Given the description of an element on the screen output the (x, y) to click on. 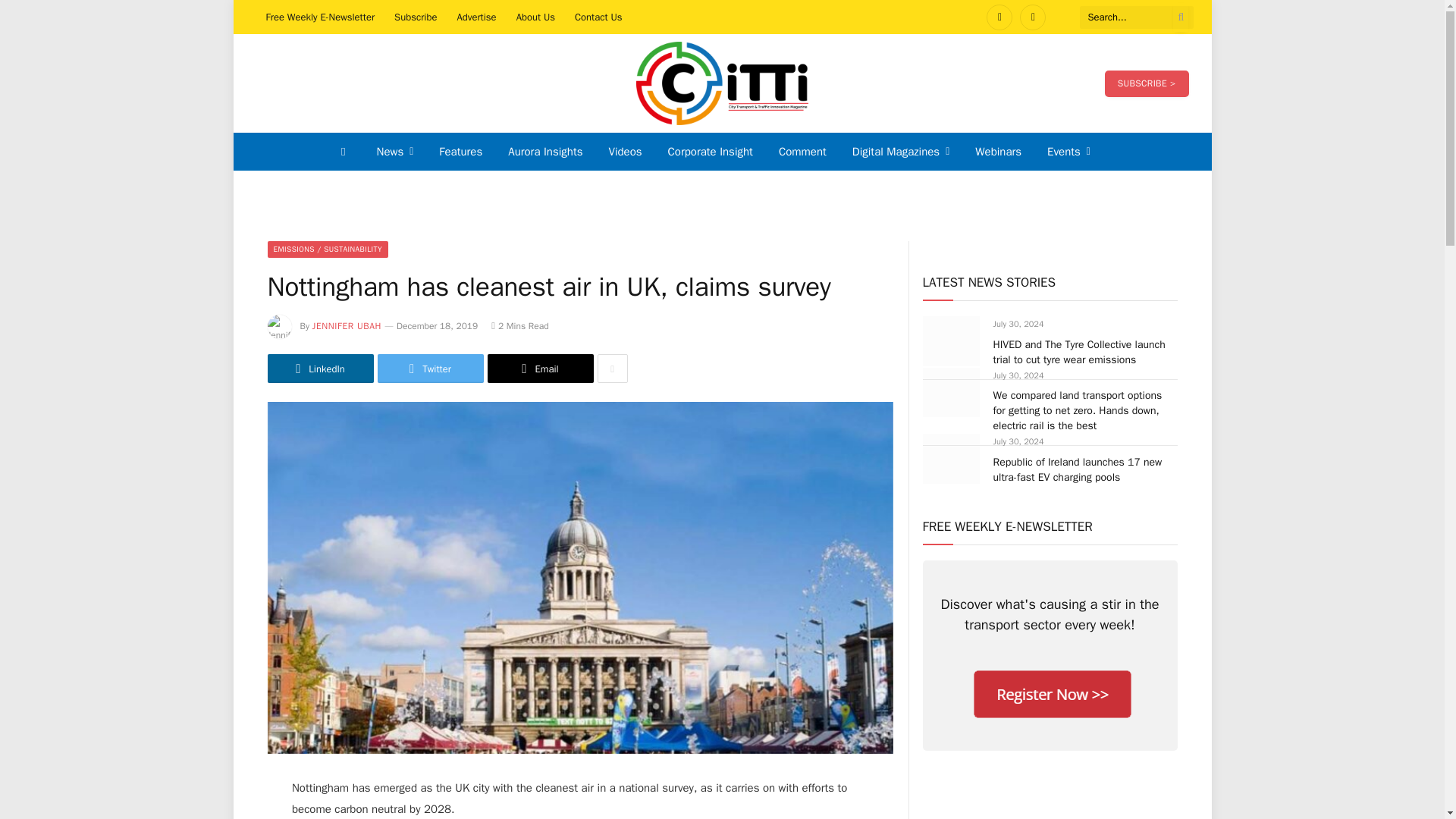
Show More Social Sharing (611, 368)
Posts by Jennifer Ubah (347, 326)
Share via Email (539, 368)
CiTTi Magazine (722, 83)
Share on LinkedIn (319, 368)
